Given the description of an element on the screen output the (x, y) to click on. 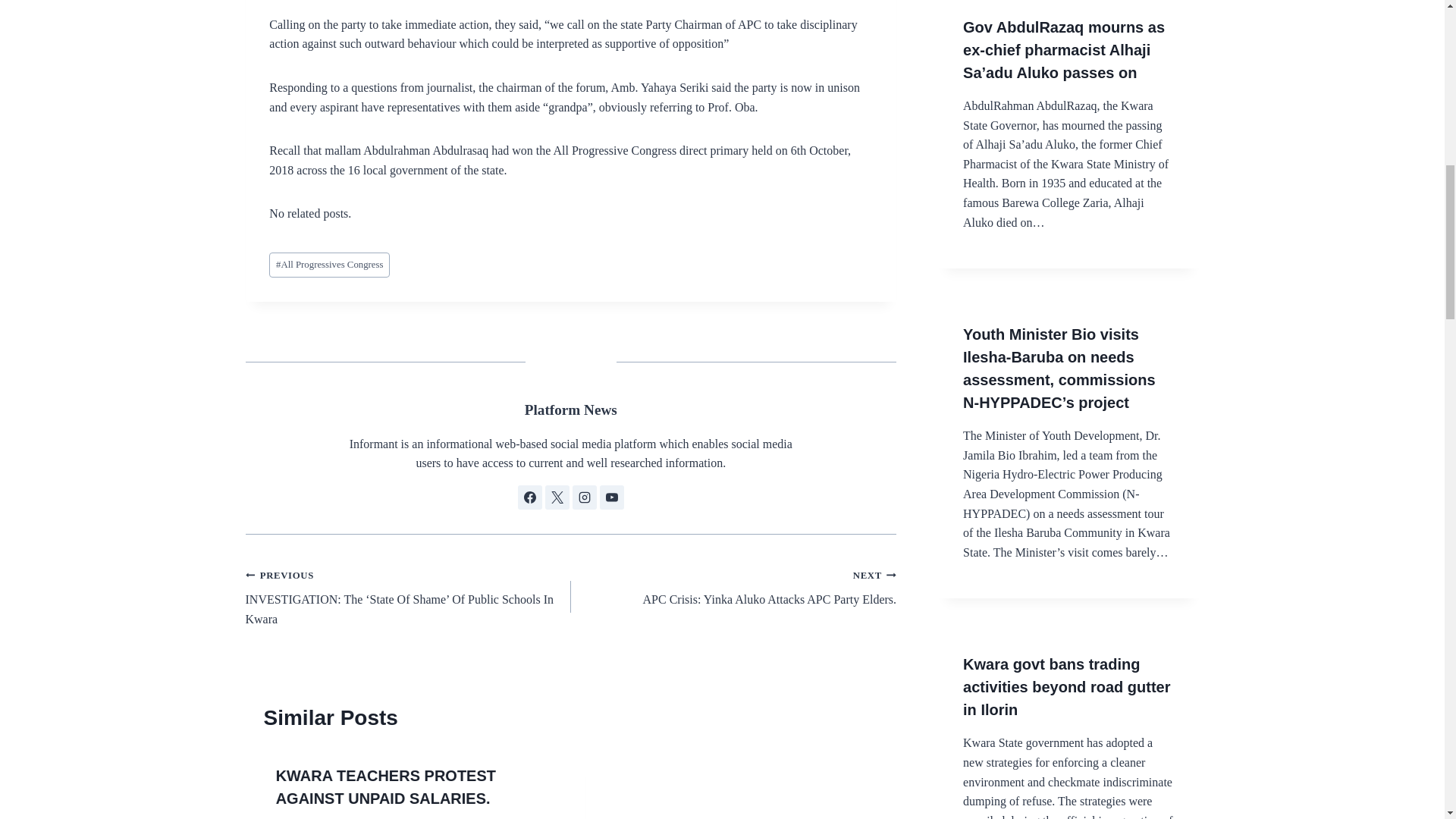
Follow Platform News on Youtube (611, 497)
Platform News (570, 409)
Posts by Platform News (733, 587)
Follow Platform News on X formerly Twitter (570, 409)
Follow Platform News on Facebook (556, 497)
All Progressives Congress (529, 497)
Follow Platform News on Instagram (329, 264)
